Given the description of an element on the screen output the (x, y) to click on. 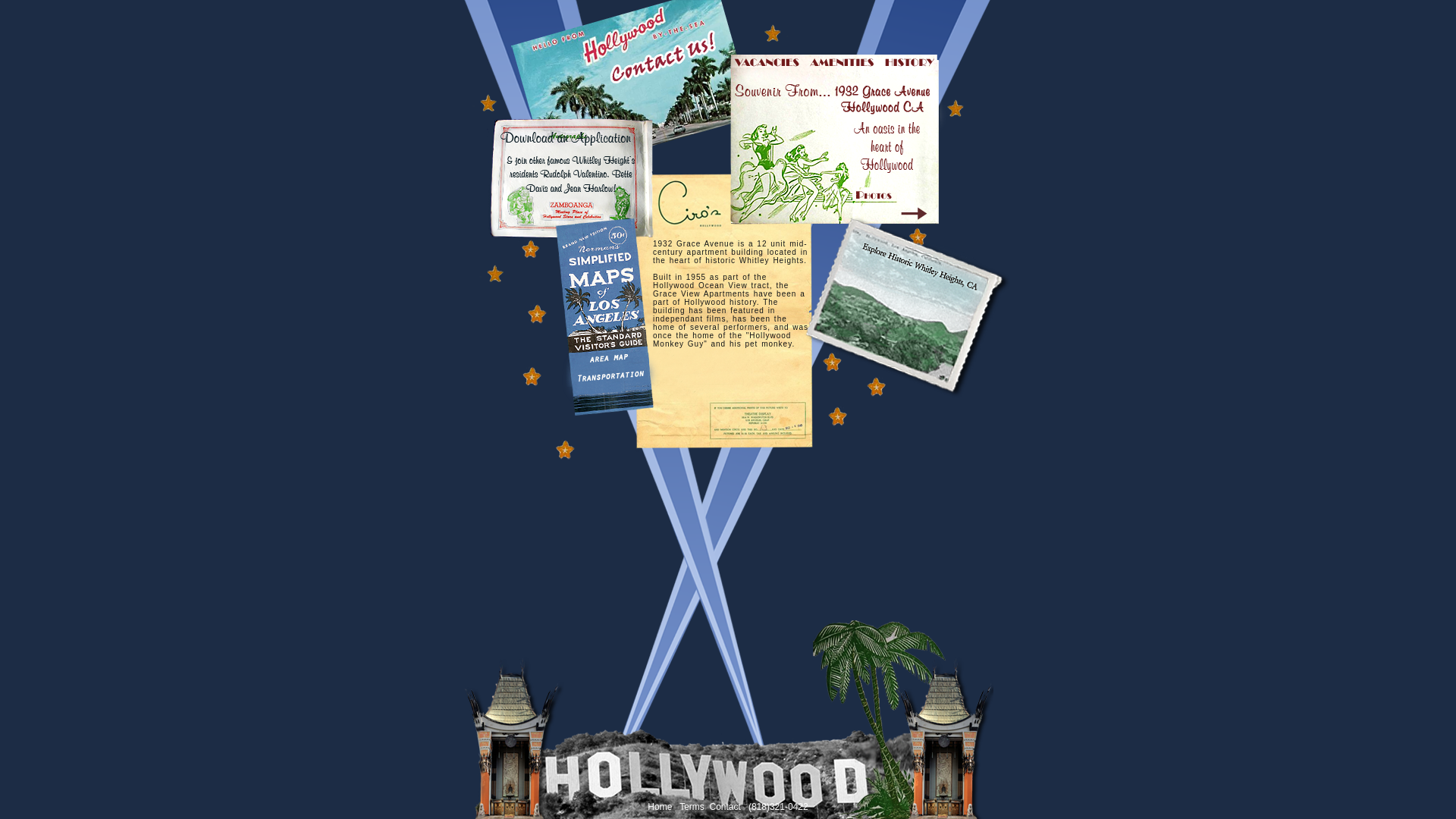
Contact Element type: text (726, 806)
Terms Element type: text (691, 806)
Home Element type: text (659, 806)
